Given the description of an element on the screen output the (x, y) to click on. 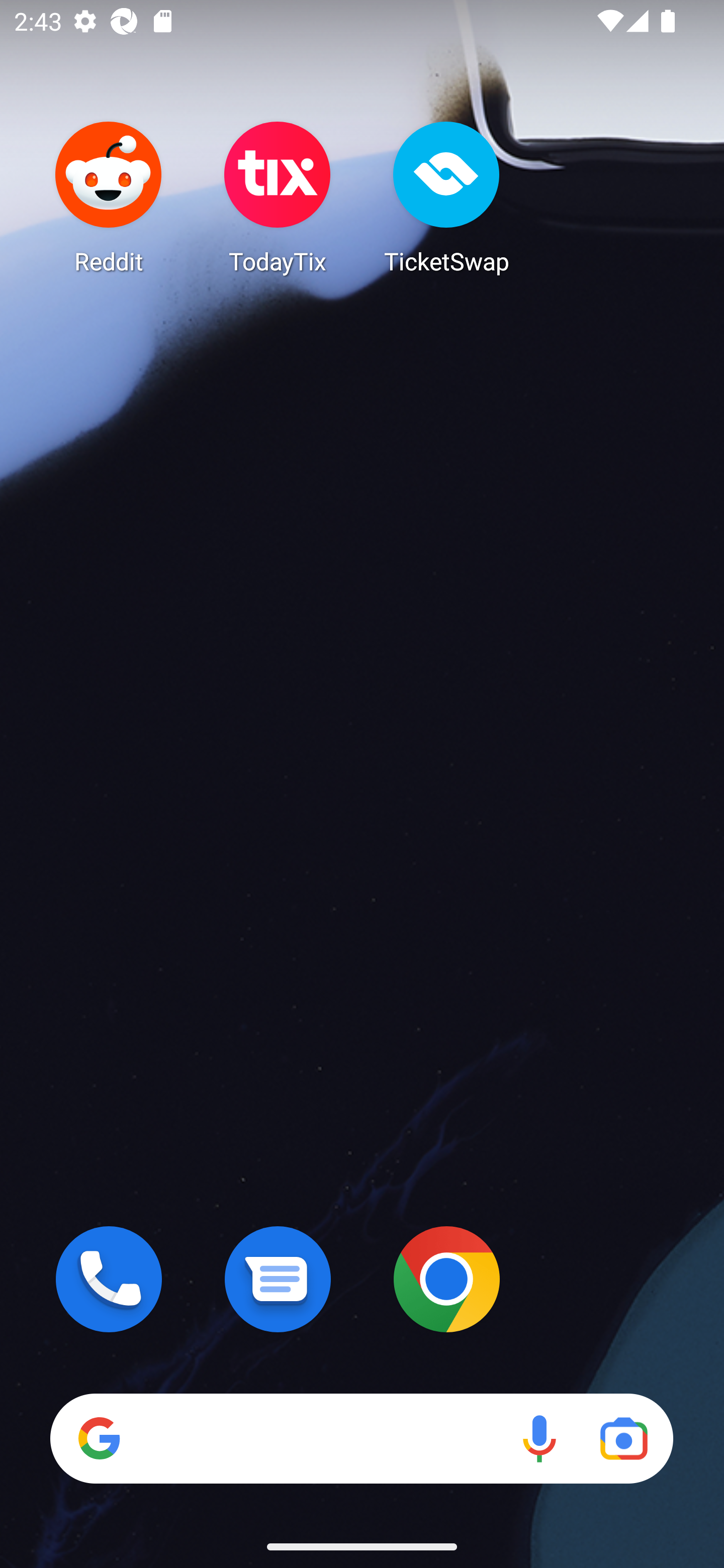
Reddit (108, 196)
TodayTix (277, 196)
TicketSwap (445, 196)
Phone (108, 1279)
Messages (277, 1279)
Chrome (446, 1279)
Voice search (539, 1438)
Google Lens (623, 1438)
